Given the description of an element on the screen output the (x, y) to click on. 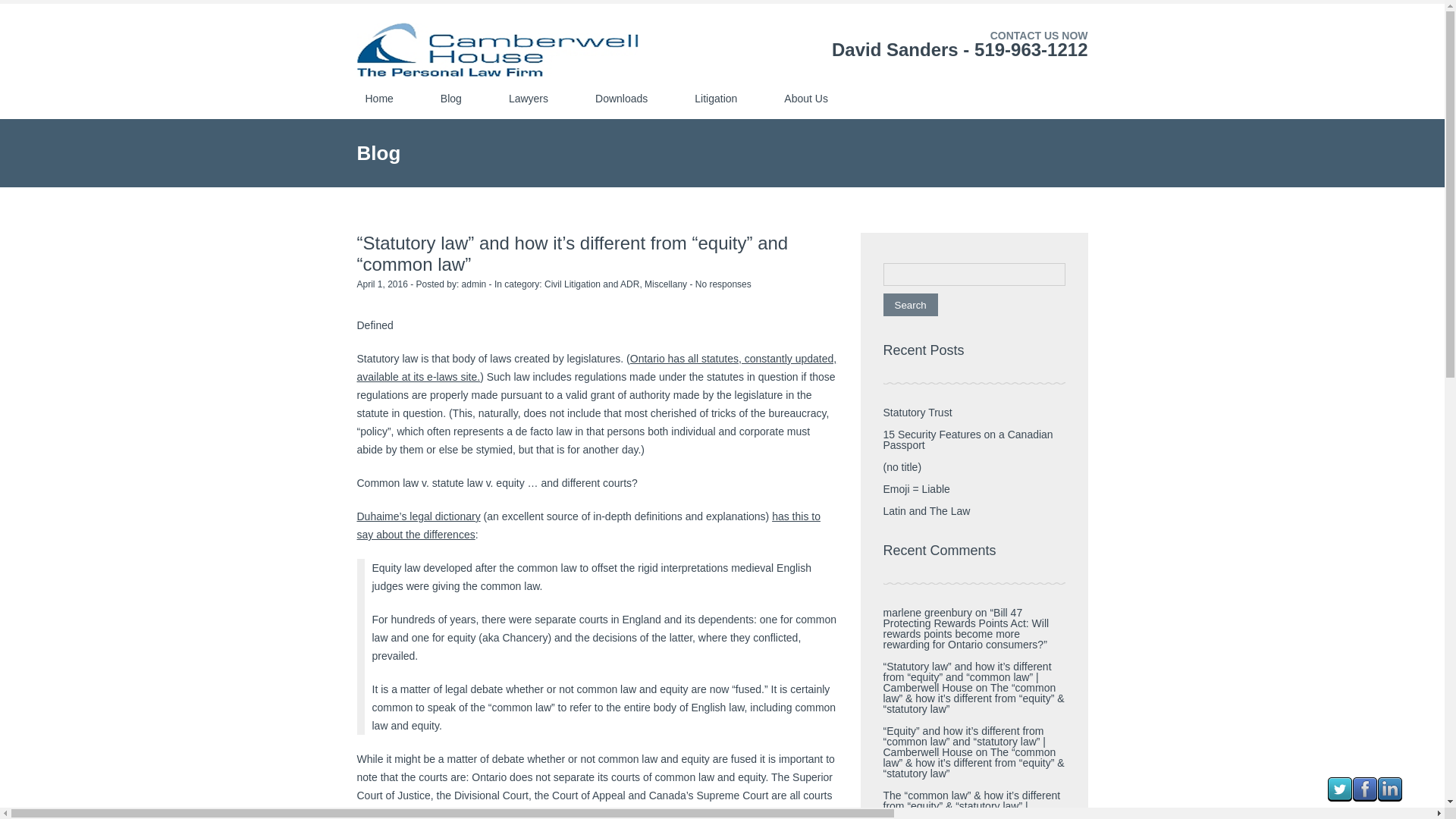
Latin and The Law (925, 510)
Statutory Trust (917, 412)
Civil Litigation and ADR (591, 284)
Posts by admin (473, 284)
admin (473, 284)
Visit Us On Linkedin (1389, 797)
Visit Us On Facebook (1364, 797)
Home (378, 98)
David Sanders - 519-963-1212 (959, 49)
Litigation (715, 98)
Visit Us On Twitter (1339, 797)
15 Security Features on a Canadian Passport (967, 439)
Search (909, 304)
Downloads (621, 98)
has this to say about the differences (587, 525)
